Given the description of an element on the screen output the (x, y) to click on. 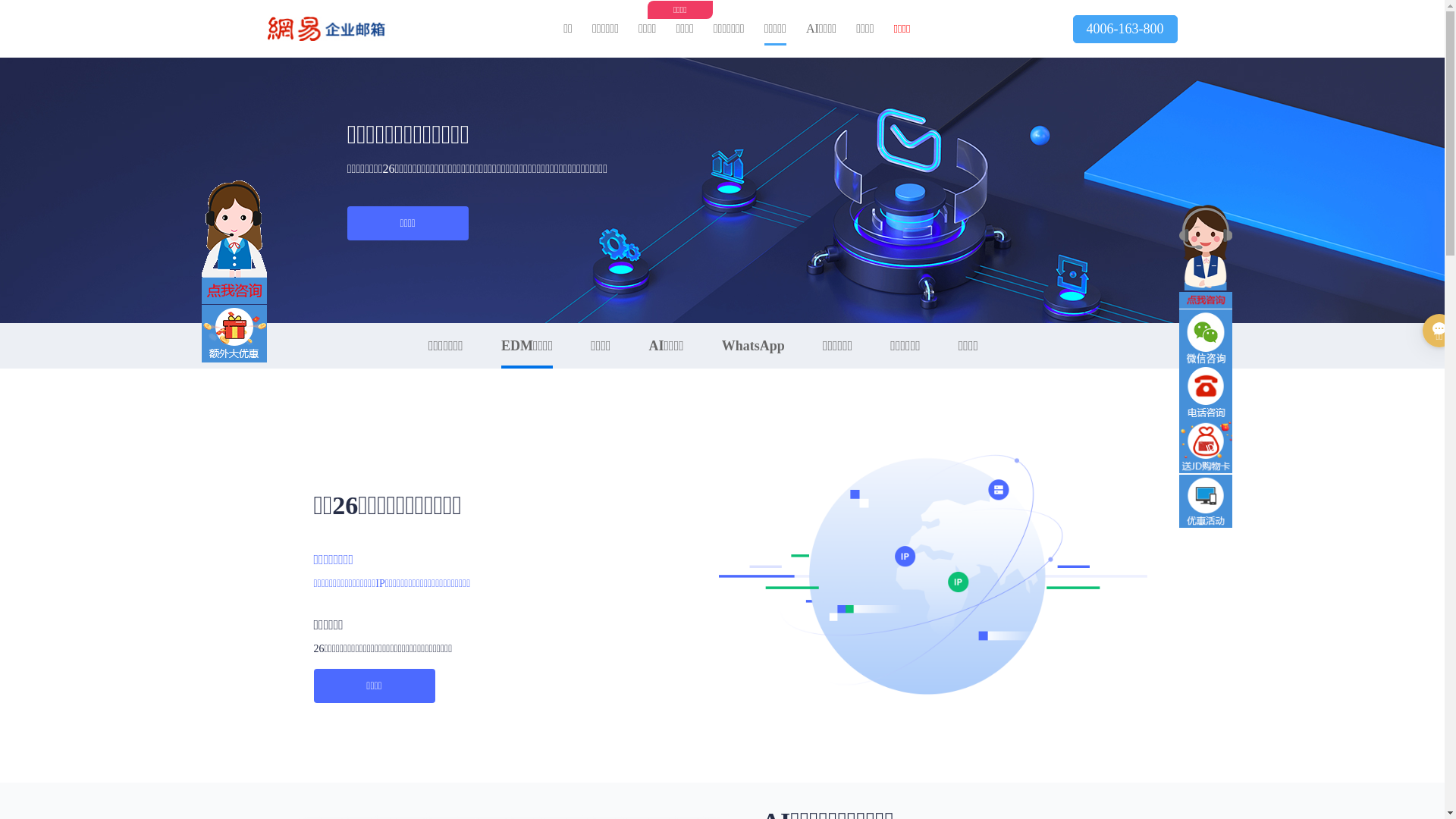
4006-163-800 Element type: text (1124, 29)
WhatsApp Element type: text (752, 345)
